Given the description of an element on the screen output the (x, y) to click on. 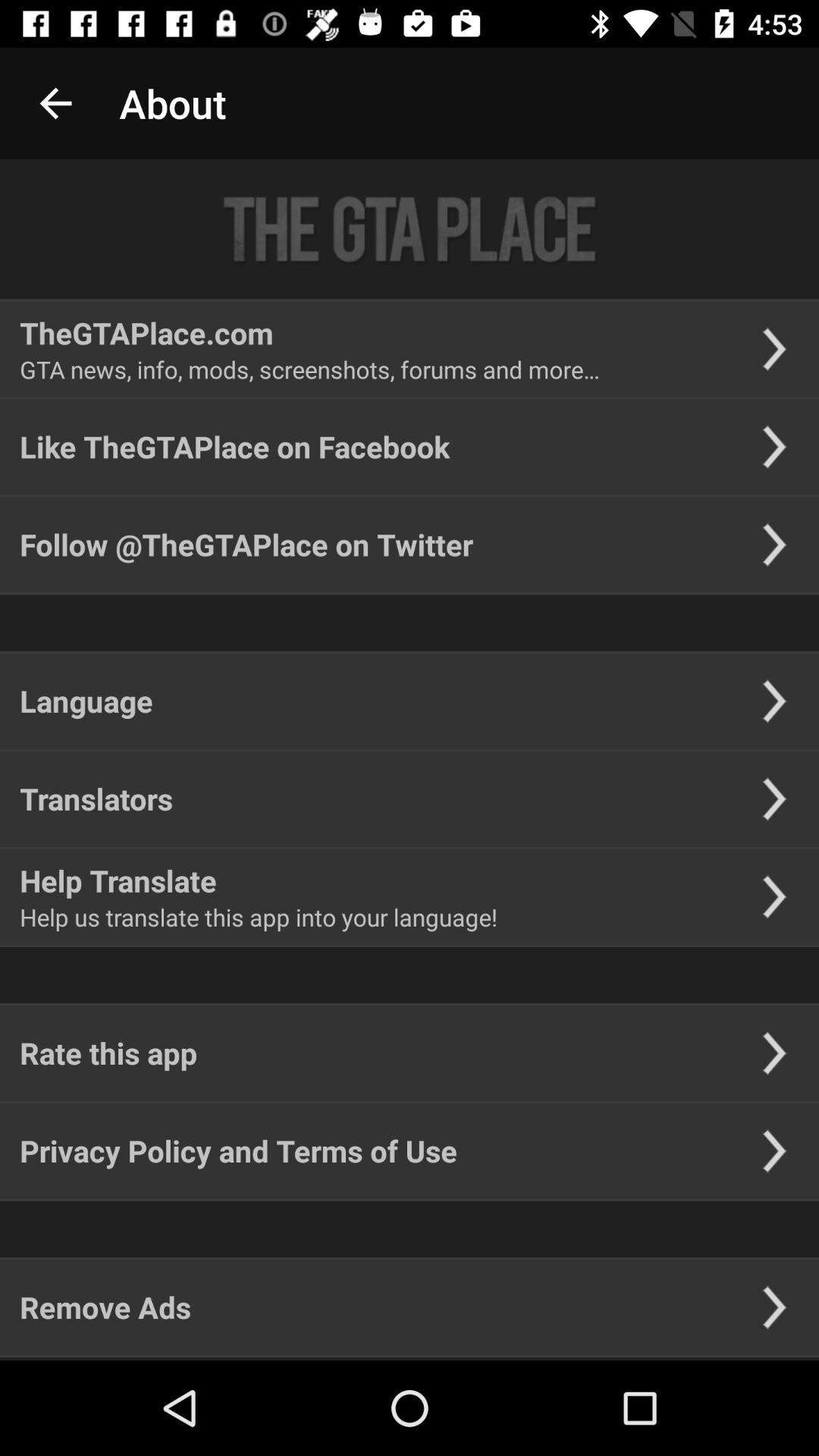
choose the gta news info (309, 369)
